Given the description of an element on the screen output the (x, y) to click on. 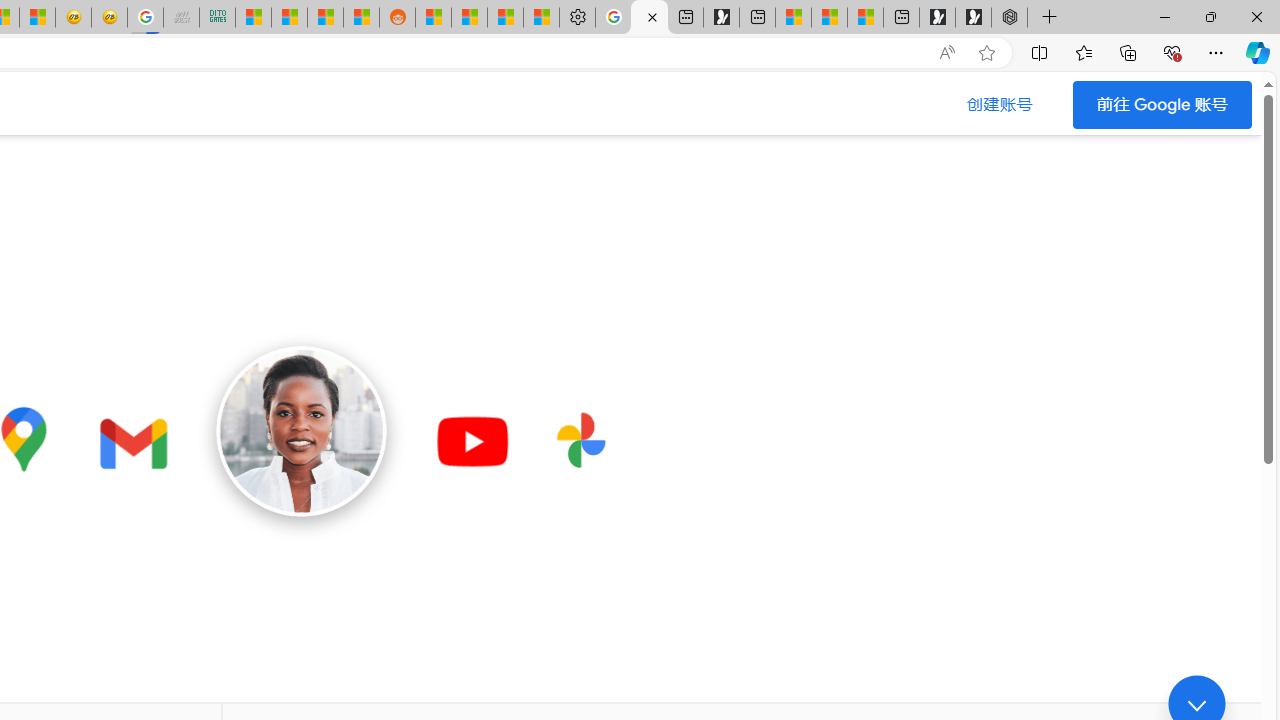
R******* | Trusted Community Engagement and Contributions (433, 17)
